Given the description of an element on the screen output the (x, y) to click on. 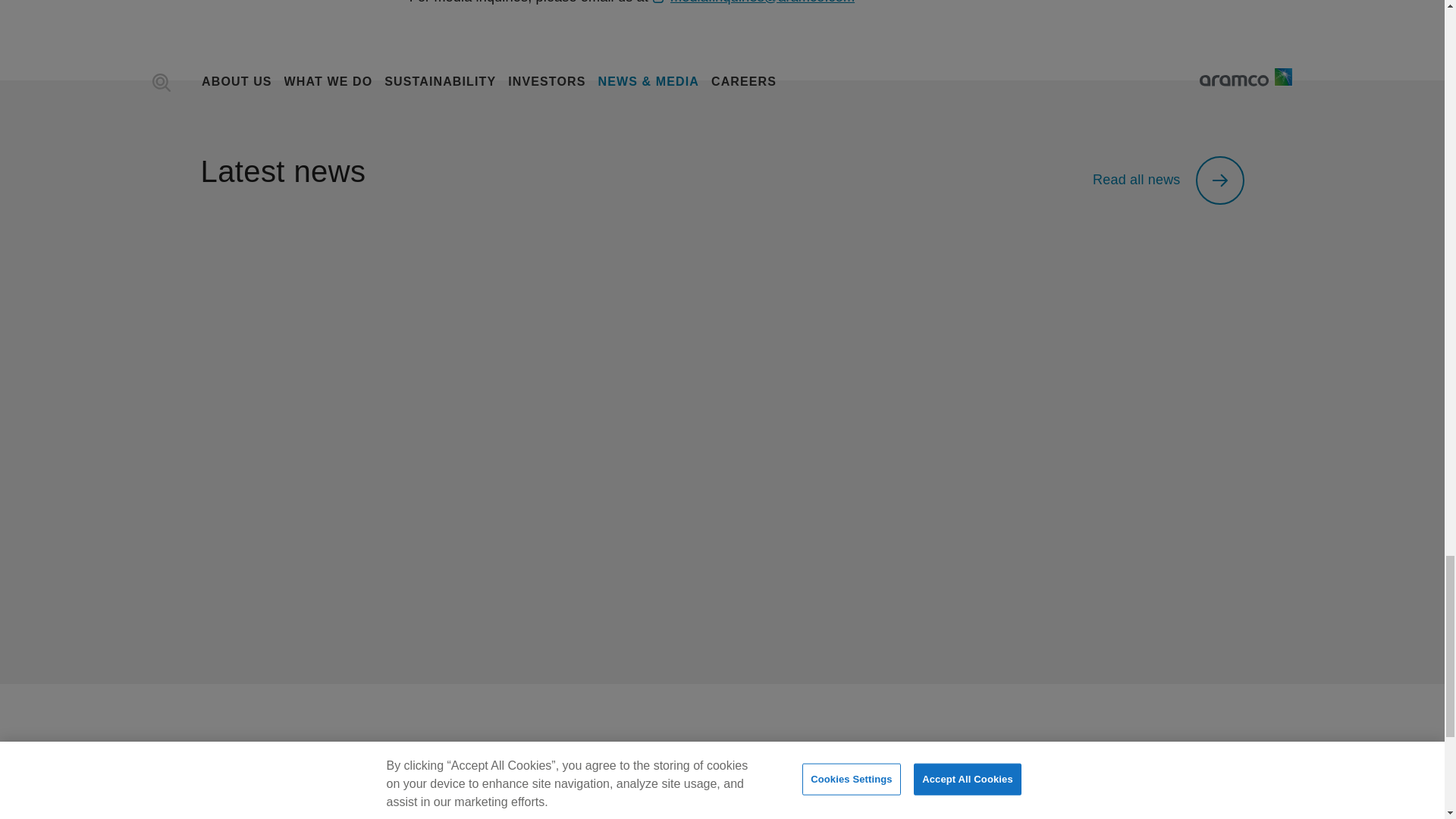
Careers (240, 802)
Cookie notices (516, 802)
Read all news (1168, 180)
Aramco Trading Company (845, 802)
